Given the description of an element on the screen output the (x, y) to click on. 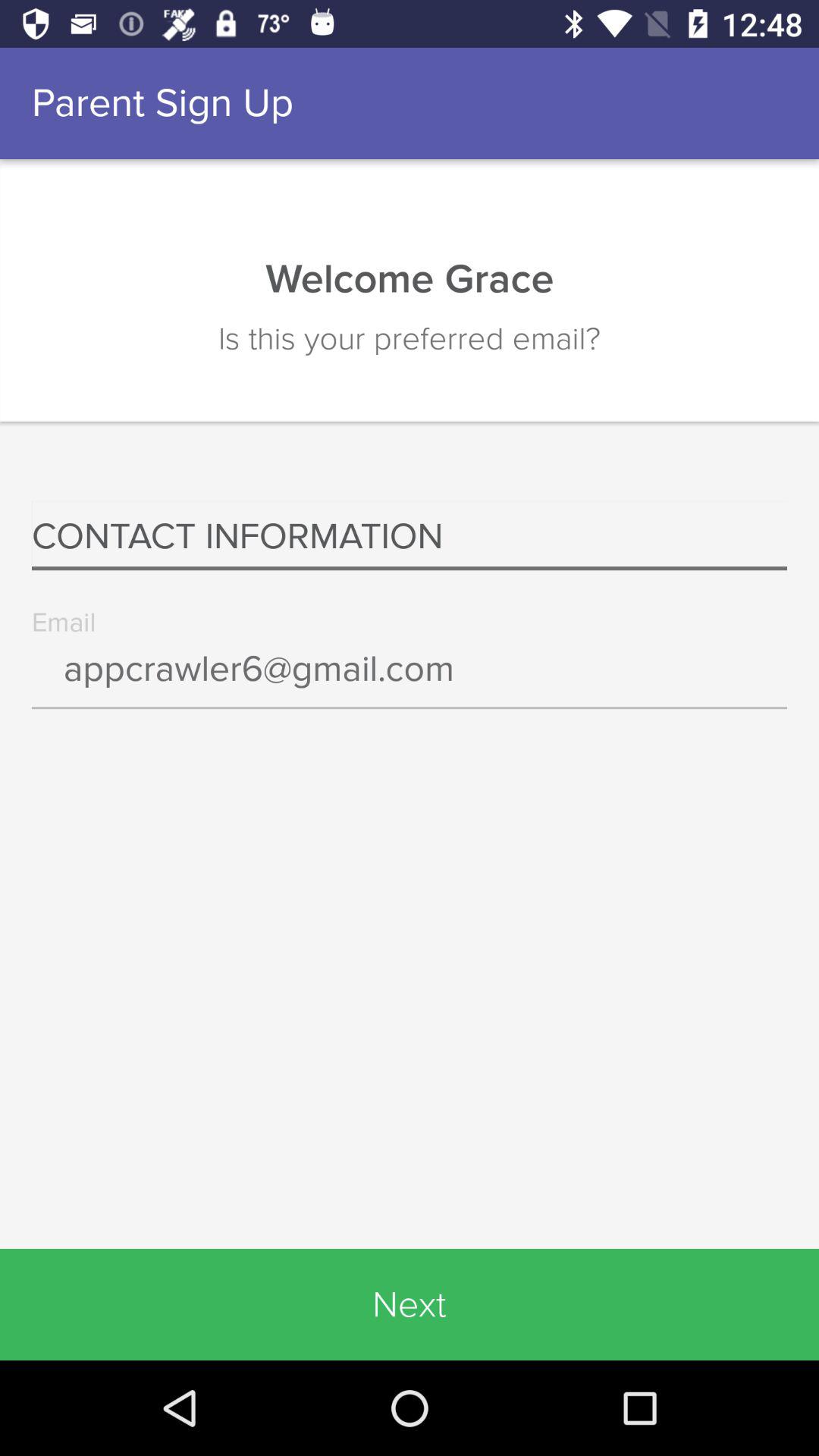
tap icon below the appcrawler6@gmail.com icon (409, 1304)
